Given the description of an element on the screen output the (x, y) to click on. 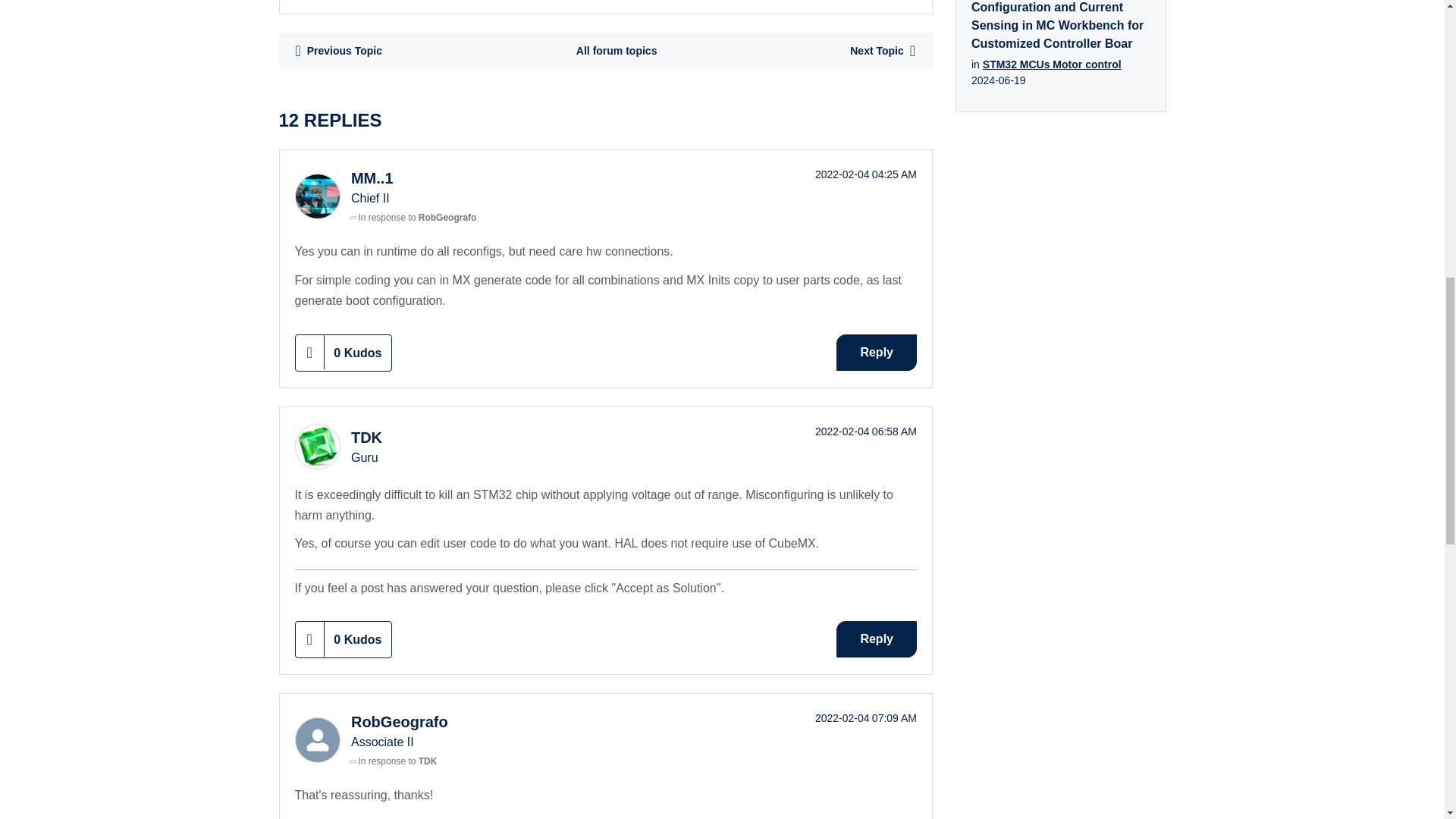
STM32 MCUs products (616, 50)
